Given the description of an element on the screen output the (x, y) to click on. 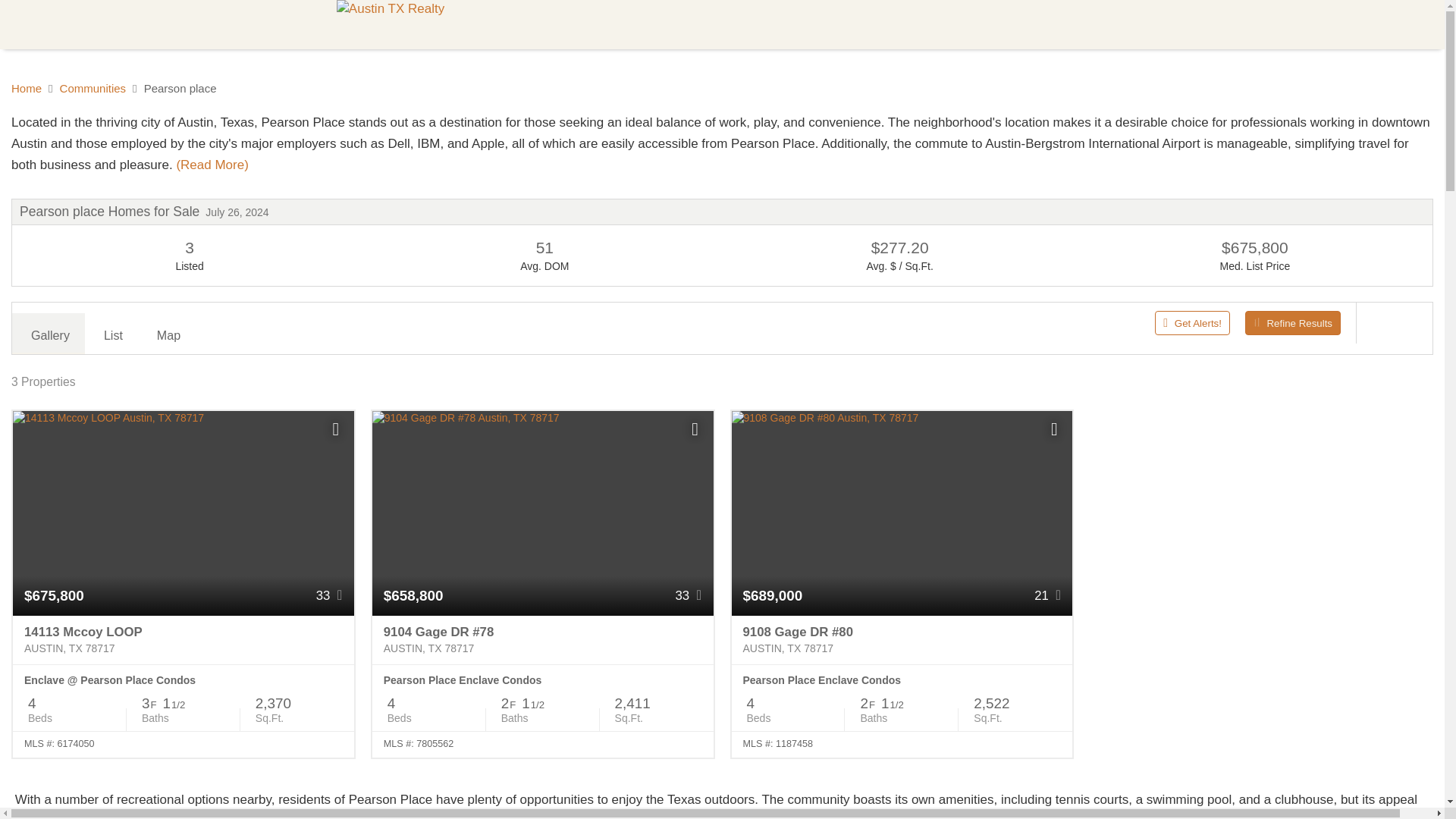
14113 Mccoy LOOP Austin,  TX 78717 (183, 640)
